Given the description of an element on the screen output the (x, y) to click on. 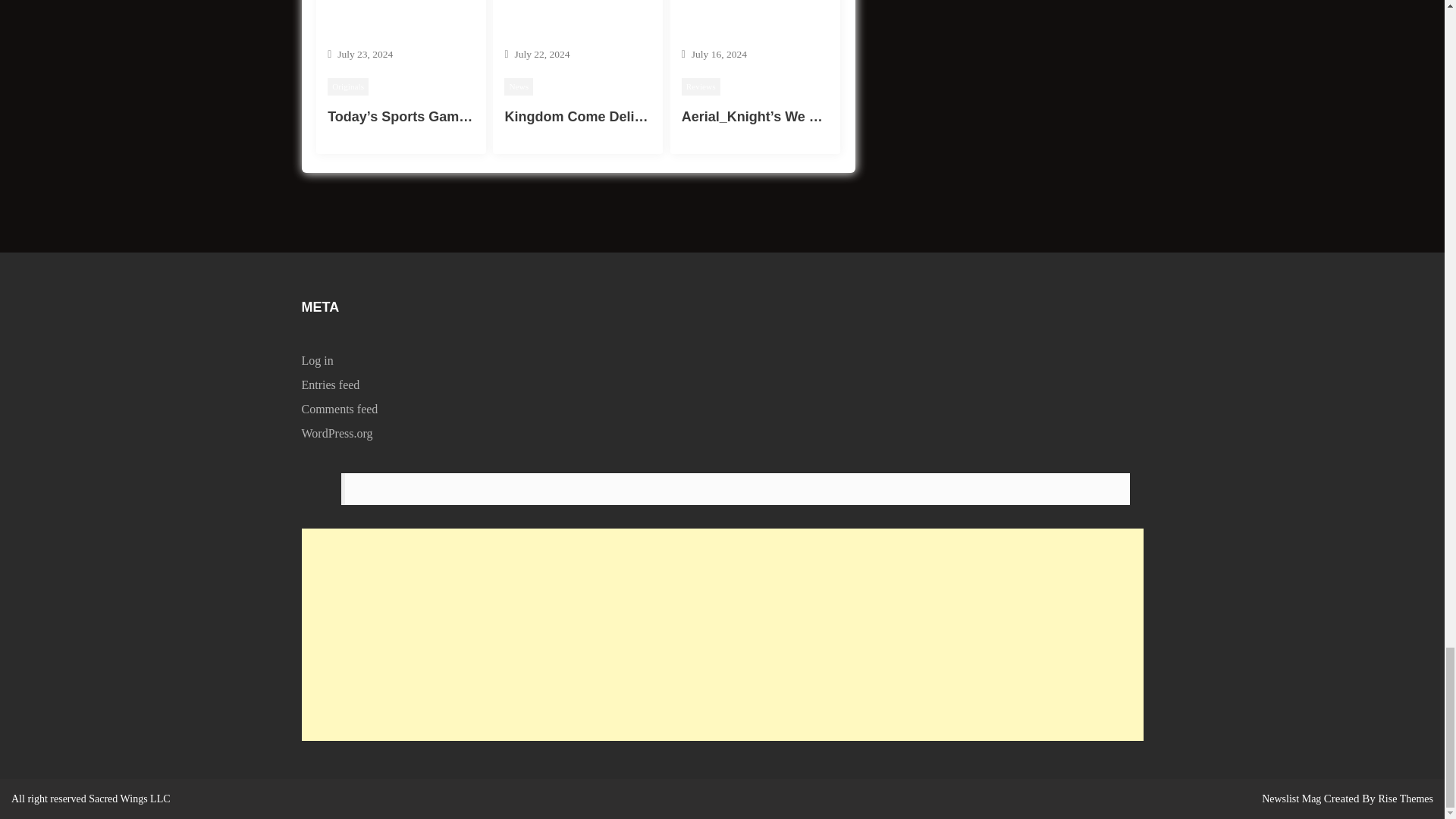
Originals (347, 86)
